Given the description of an element on the screen output the (x, y) to click on. 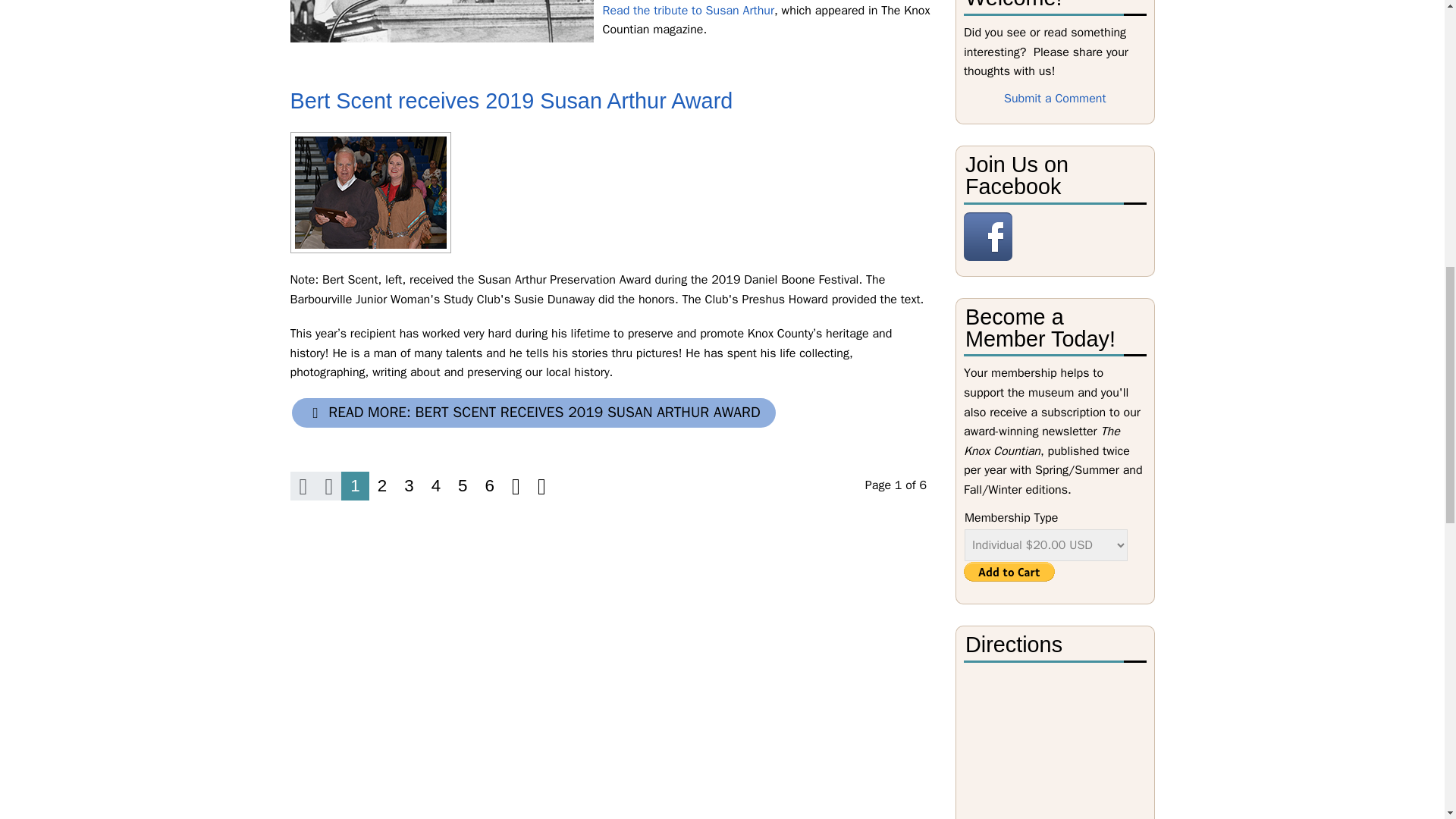
Submit a Comment (1055, 98)
Bert Scent receives 2019 Susan Arthur Award (369, 191)
Read the tribute to Susan Arthur (688, 10)
